Given the description of an element on the screen output the (x, y) to click on. 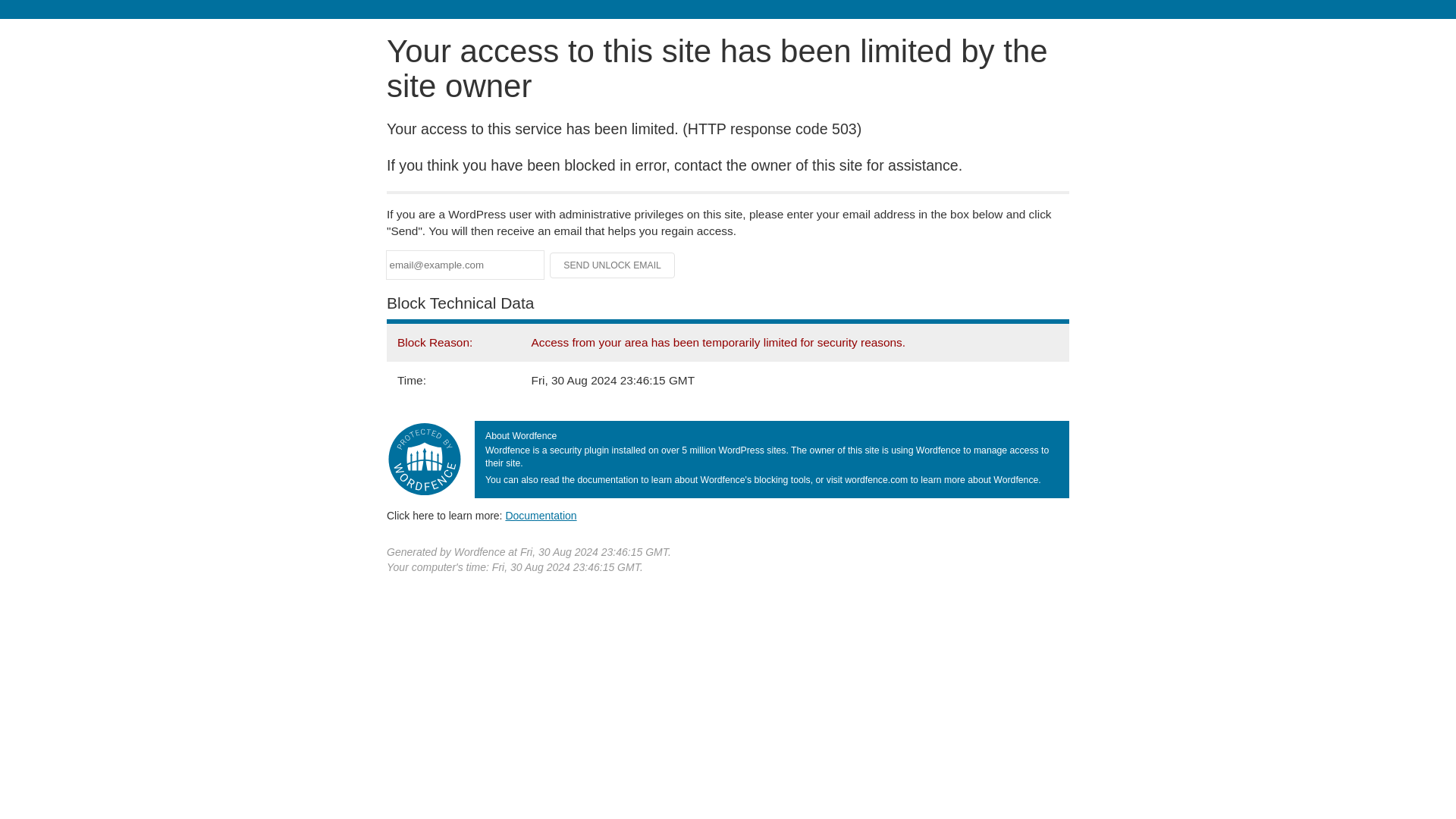
Send Unlock Email (612, 265)
Documentation (540, 515)
Send Unlock Email (612, 265)
